Given the description of an element on the screen output the (x, y) to click on. 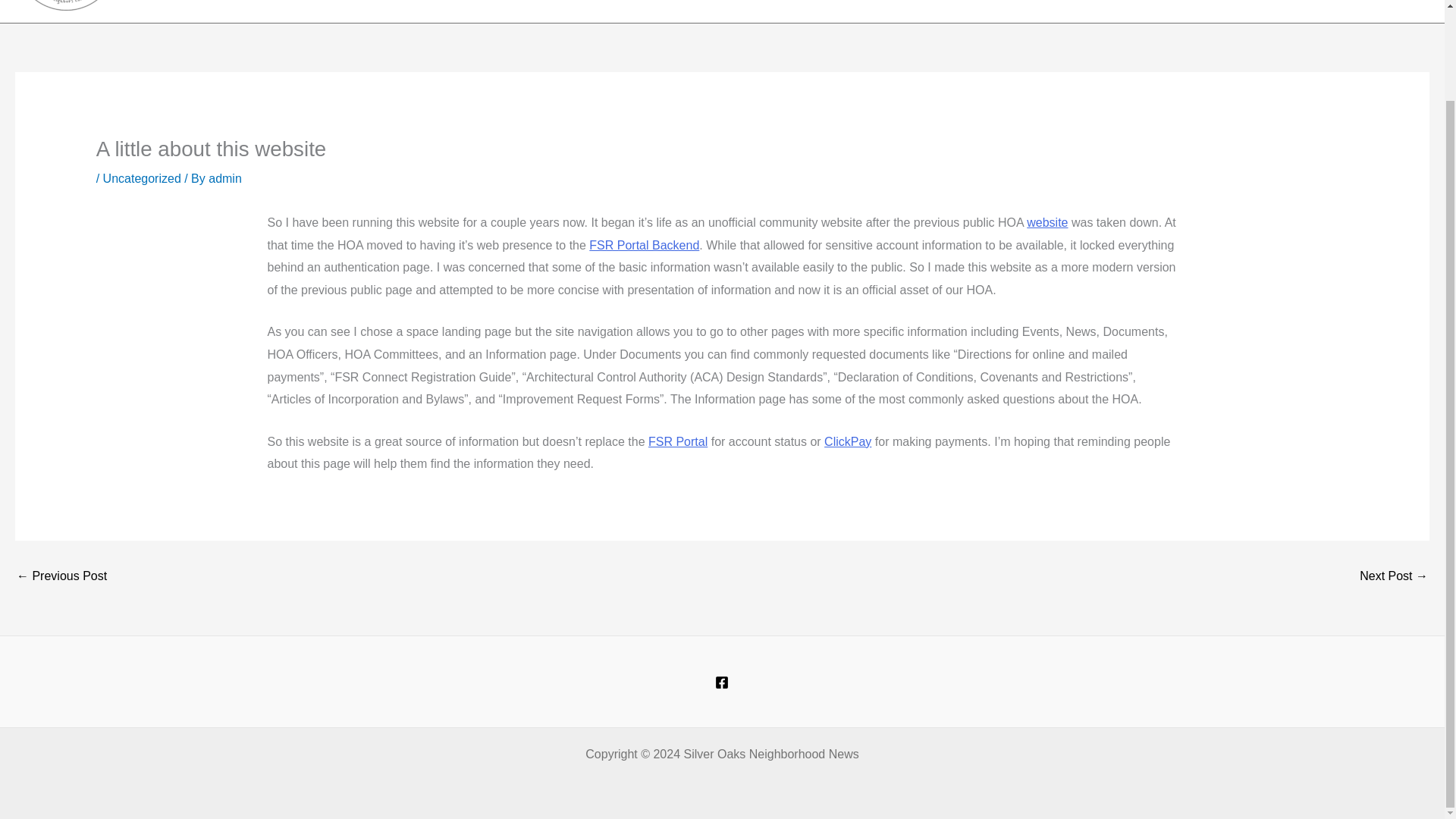
website (1046, 222)
FSR Portal (677, 440)
Easter Bunny Photos (1393, 576)
Uncategorized (141, 178)
ClickPay (847, 440)
Community Volunteer Form (61, 576)
FSR Portal Backend (643, 245)
admin (224, 178)
View all posts by admin (224, 178)
